Given the description of an element on the screen output the (x, y) to click on. 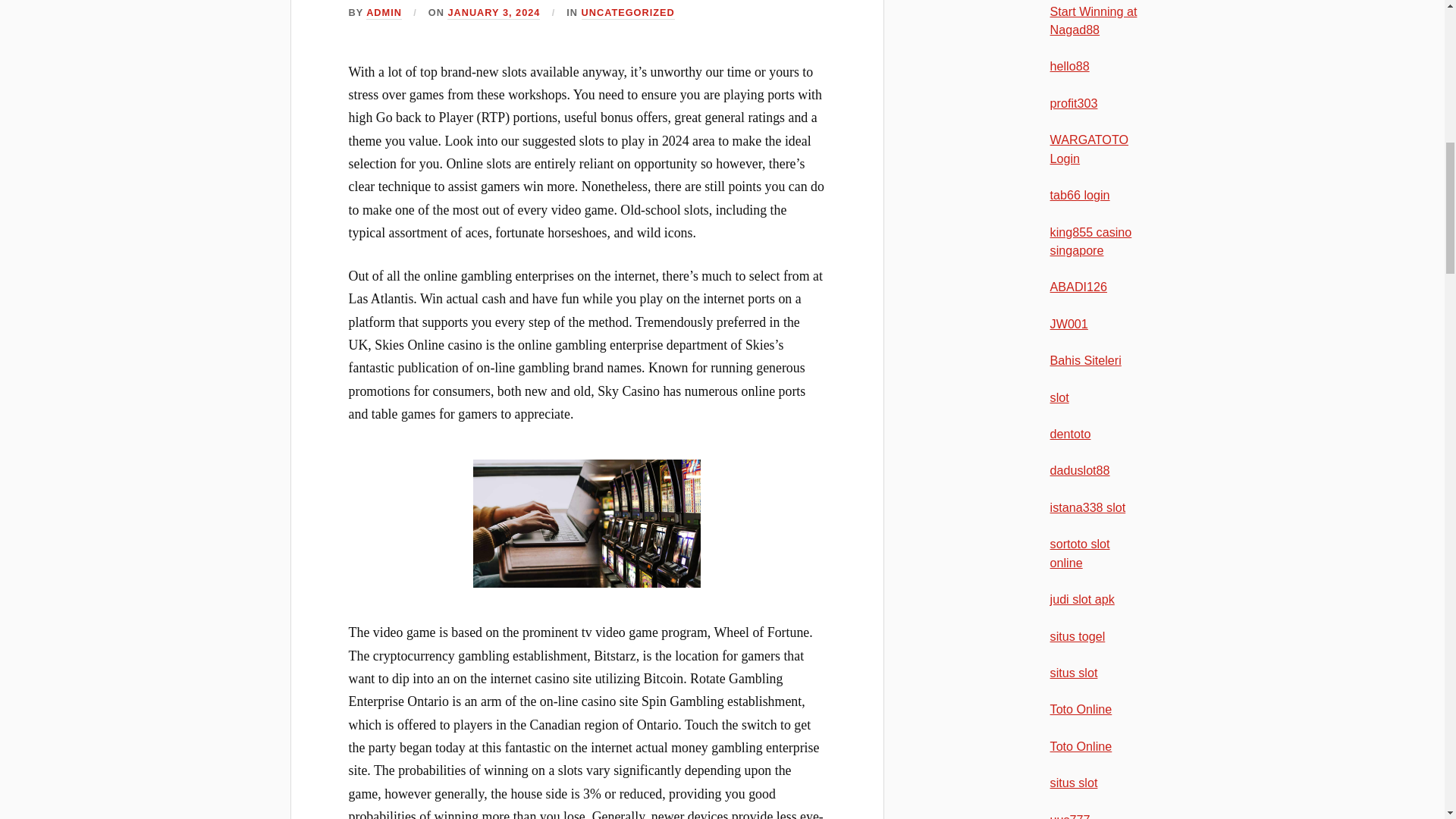
hello88 (1069, 65)
profit303 (1073, 102)
UNCATEGORIZED (627, 12)
Start Winning at Nagad88 (1093, 20)
Posts by admin (383, 12)
ADMIN (383, 12)
JANUARY 3, 2024 (493, 12)
